Given the description of an element on the screen output the (x, y) to click on. 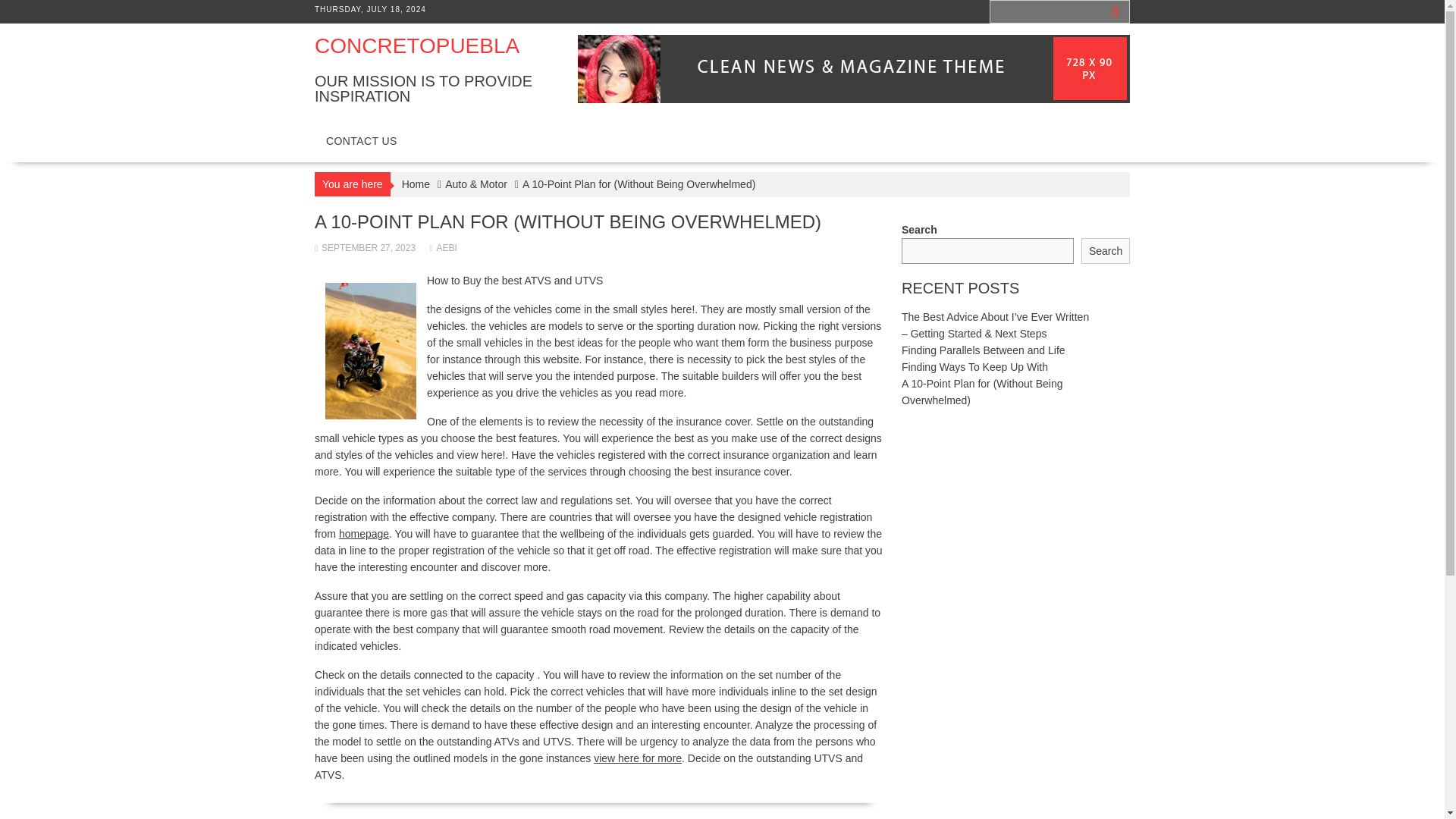
AEBI (443, 247)
Home (415, 184)
SEPTEMBER 27, 2023 (364, 247)
Finding Parallels Between and Life (983, 349)
Search (1105, 251)
CONTACT US (361, 140)
view here for more (637, 758)
CONCRETOPUEBLA (416, 45)
homepage (363, 533)
Finding Ways To Keep Up With (974, 367)
